Given the description of an element on the screen output the (x, y) to click on. 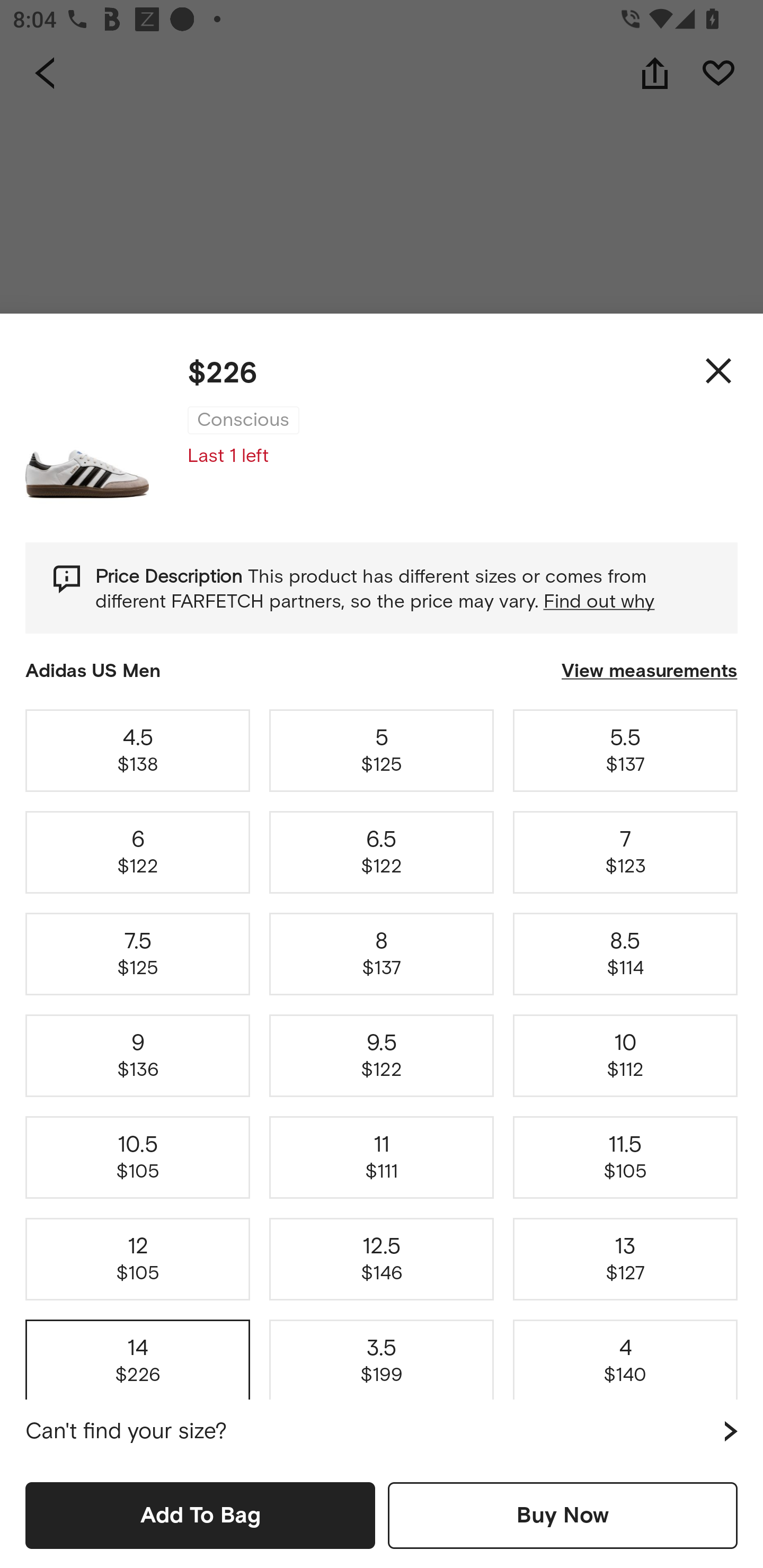
4.5 $138 (137, 749)
5 $125 (381, 749)
5.5 $137 (624, 749)
6 $122 (137, 851)
6.5 $122 (381, 851)
7 $123 (624, 851)
7.5 $125 (137, 953)
8 $137 (381, 953)
8.5 $114 (624, 953)
9 $136 (137, 1055)
9.5 $122 (381, 1055)
10 $112 (624, 1055)
10.5 $105 (137, 1157)
11 $111 (381, 1157)
11.5 $105 (624, 1157)
12 $105 (137, 1258)
12.5 $146 (381, 1258)
13 $127 (624, 1258)
14 $226 (137, 1356)
3.5 $199 (381, 1356)
4 $140 (624, 1356)
Can't find your size? (381, 1431)
Add To Bag (200, 1515)
Buy Now (562, 1515)
